Given the description of an element on the screen output the (x, y) to click on. 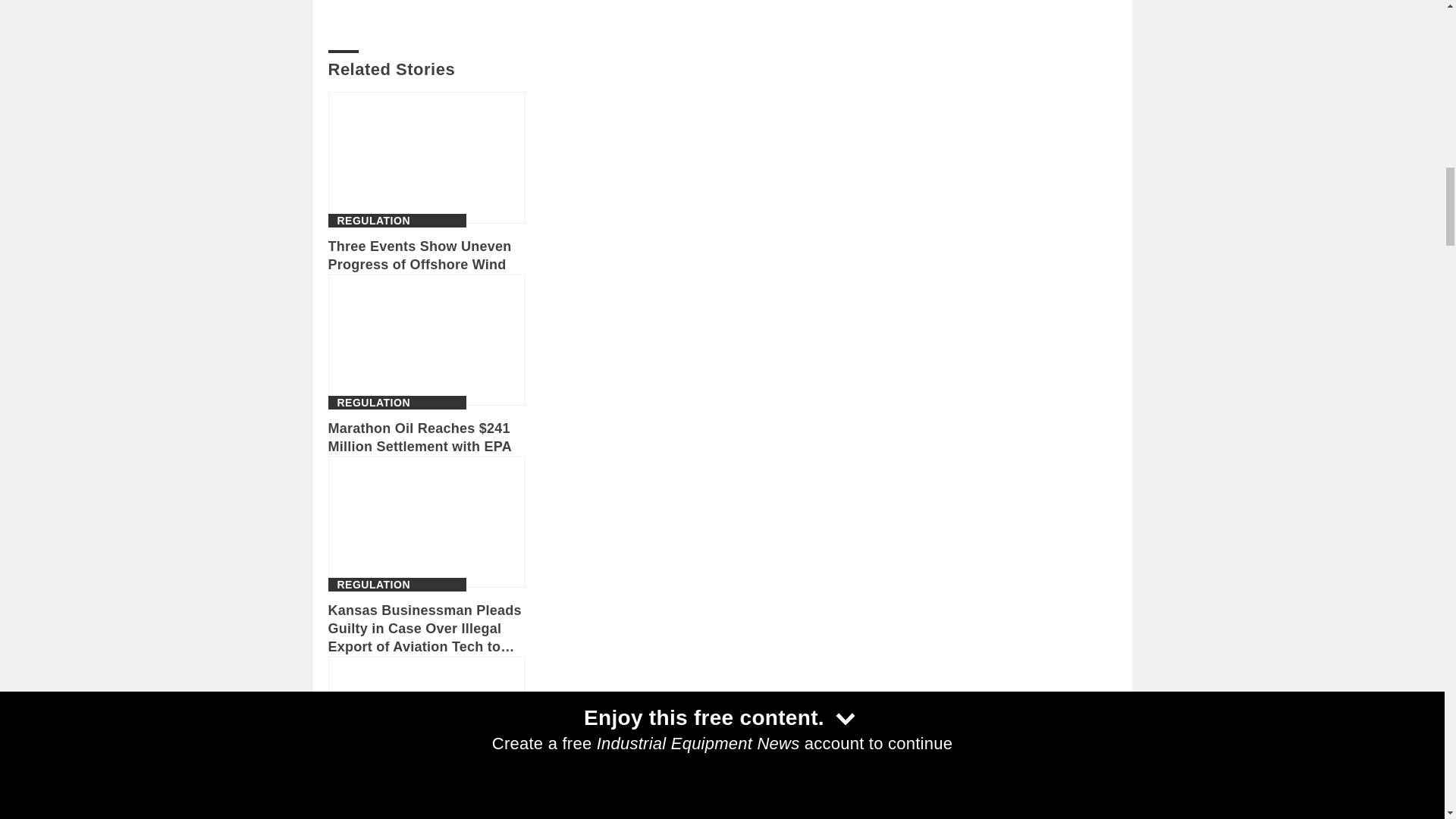
Regulation (373, 584)
Sponsor Content (392, 784)
Regulation (373, 220)
Regulation (373, 402)
